Given the description of an element on the screen output the (x, y) to click on. 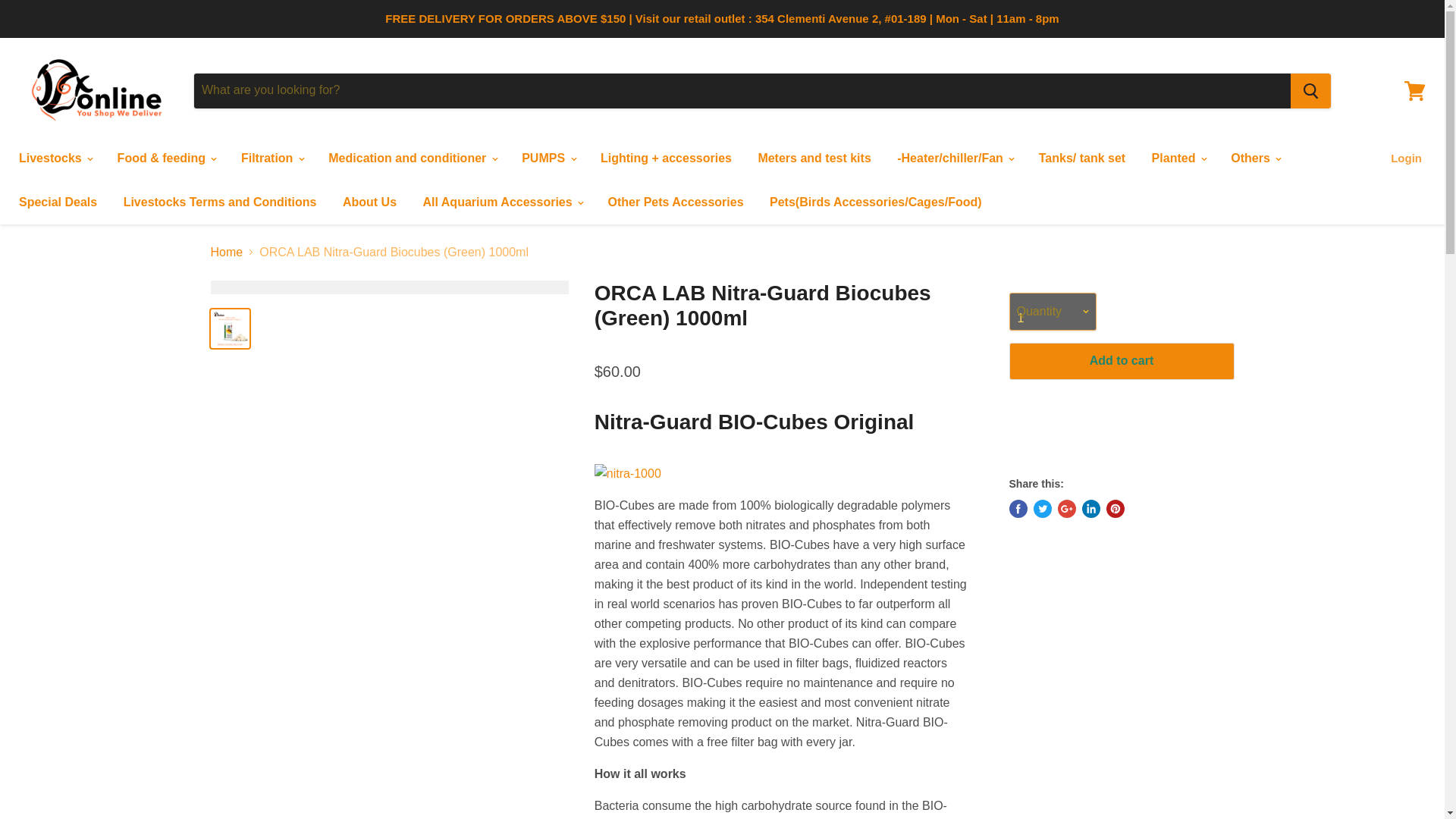
Livestocks (54, 158)
View cart (1414, 89)
nitra-1000 (627, 472)
Filtration (272, 158)
